Given the description of an element on the screen output the (x, y) to click on. 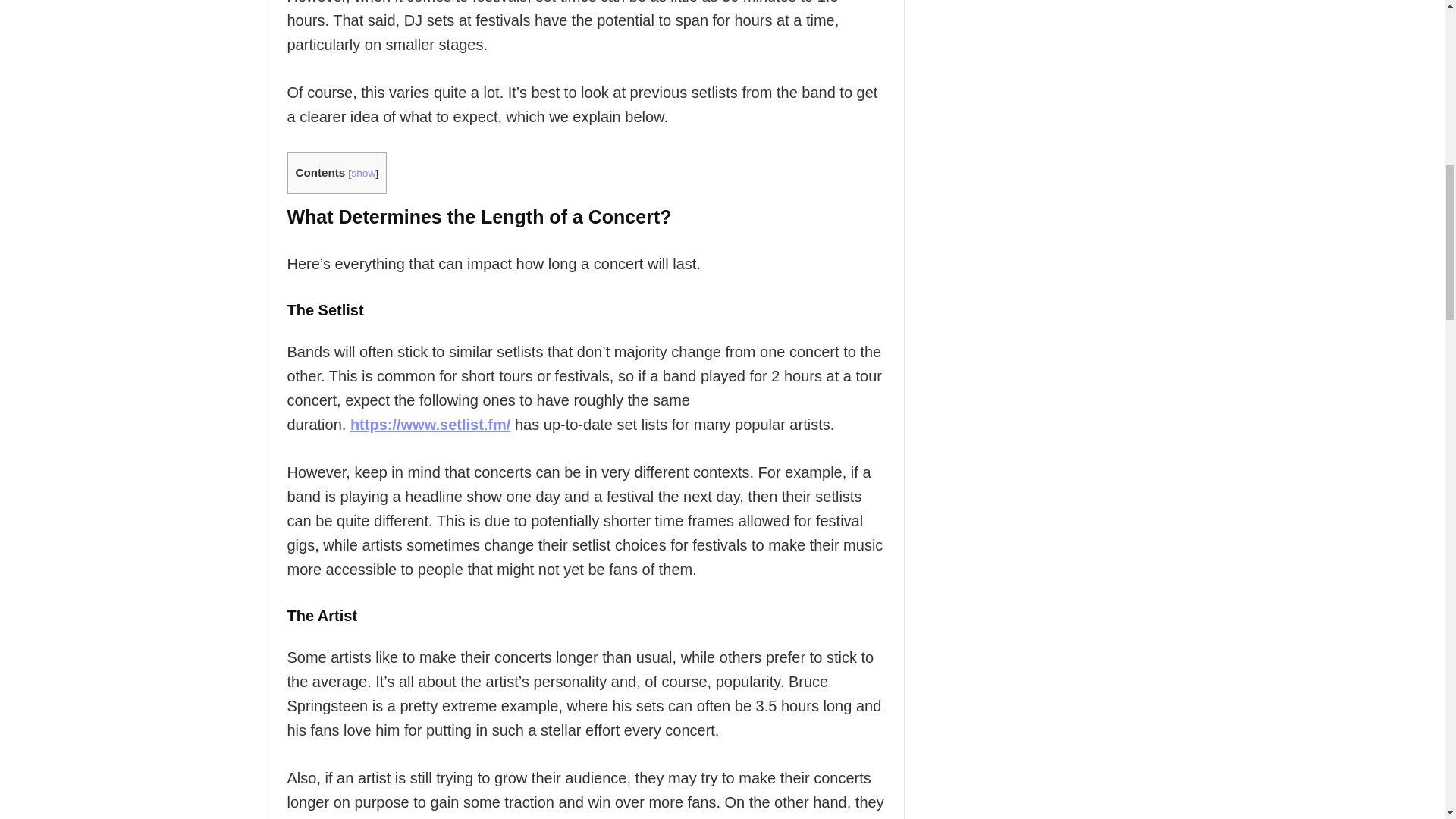
show (362, 172)
